Given the description of an element on the screen output the (x, y) to click on. 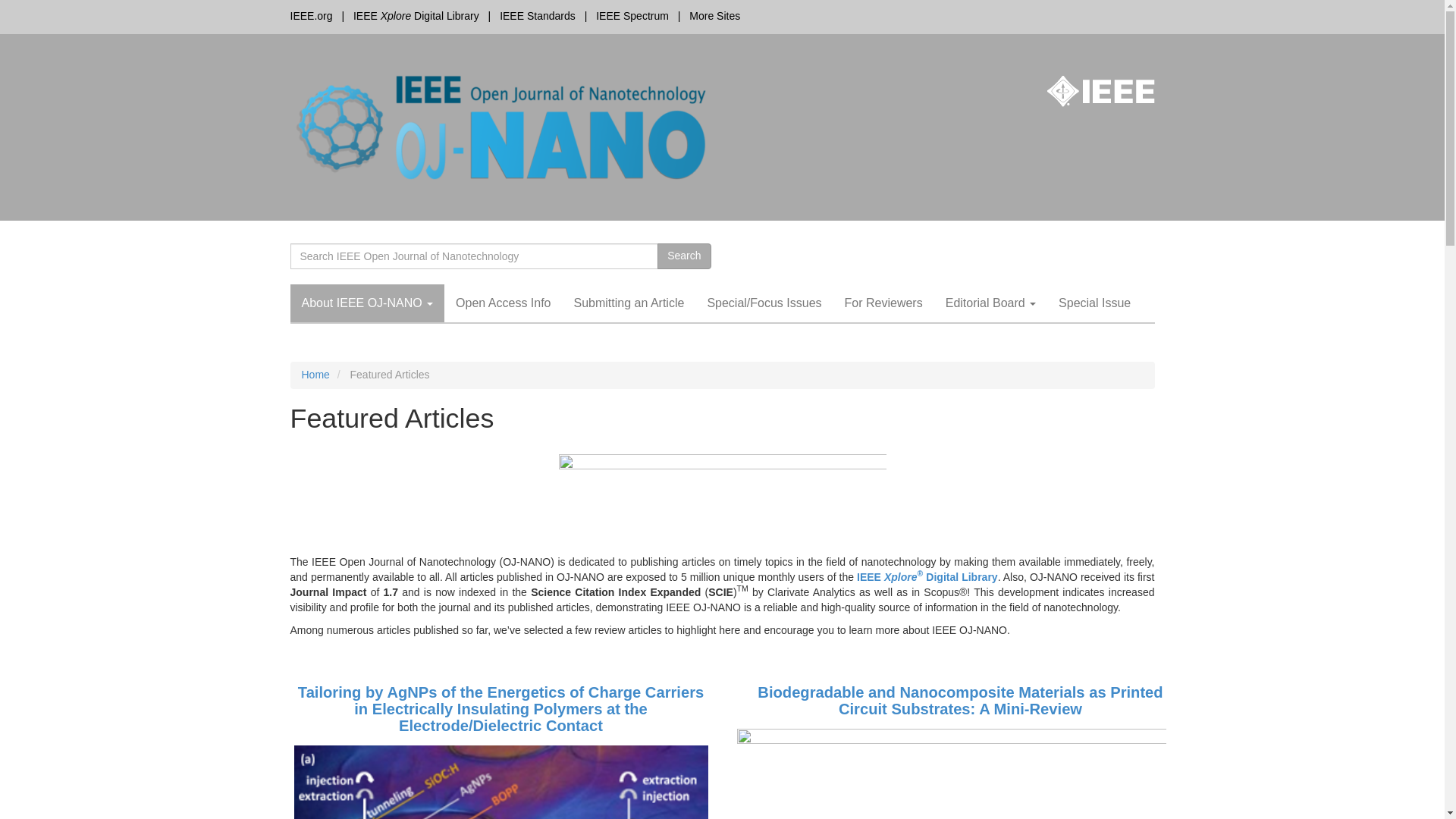
For Reviewers (883, 303)
Editorial Board (990, 303)
Open Access Info (503, 303)
IEEE Open Journal of Nanotechnology home (499, 126)
IEEE.org (310, 15)
Home (315, 374)
Special Issue (1093, 303)
About IEEE OJ-NANO (366, 303)
